Given the description of an element on the screen output the (x, y) to click on. 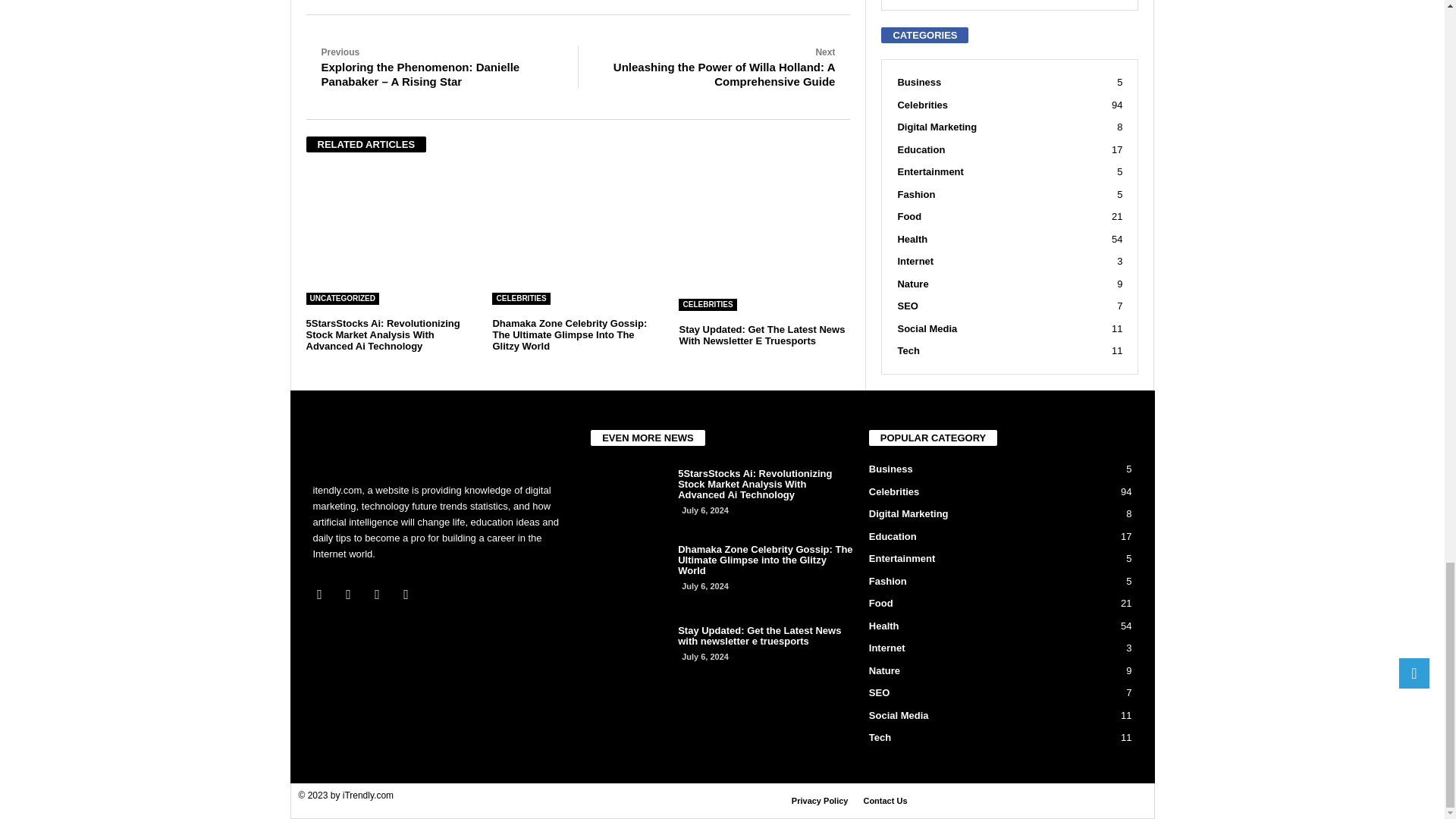
CELEBRITIES (521, 298)
CELEBRITIES (707, 304)
UNCATEGORIZED (341, 298)
RELATED ARTICLES (365, 144)
